Given the description of an element on the screen output the (x, y) to click on. 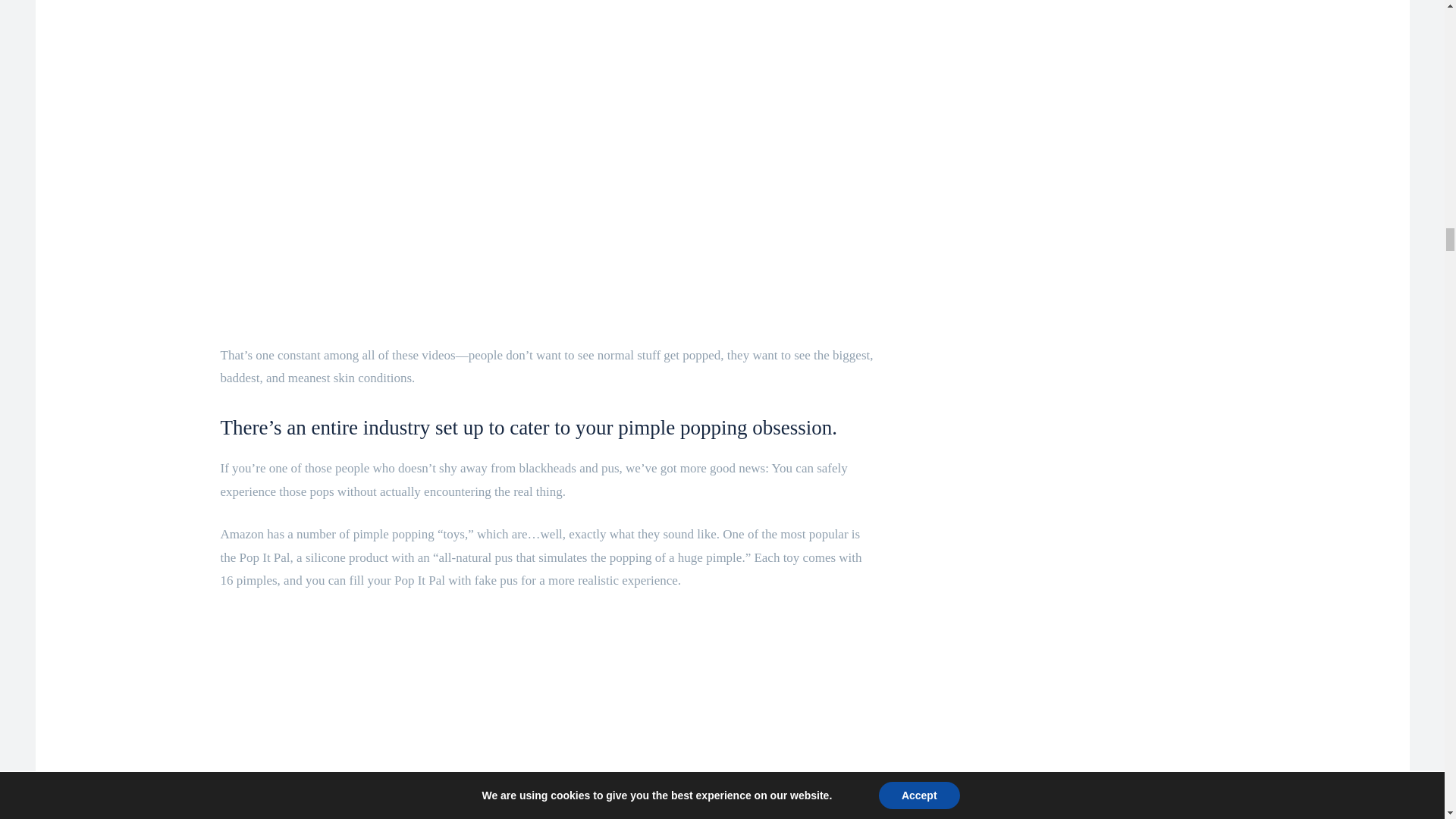
EPIC RING DINGERS Chiropractic Compilation (548, 59)
